Given the description of an element on the screen output the (x, y) to click on. 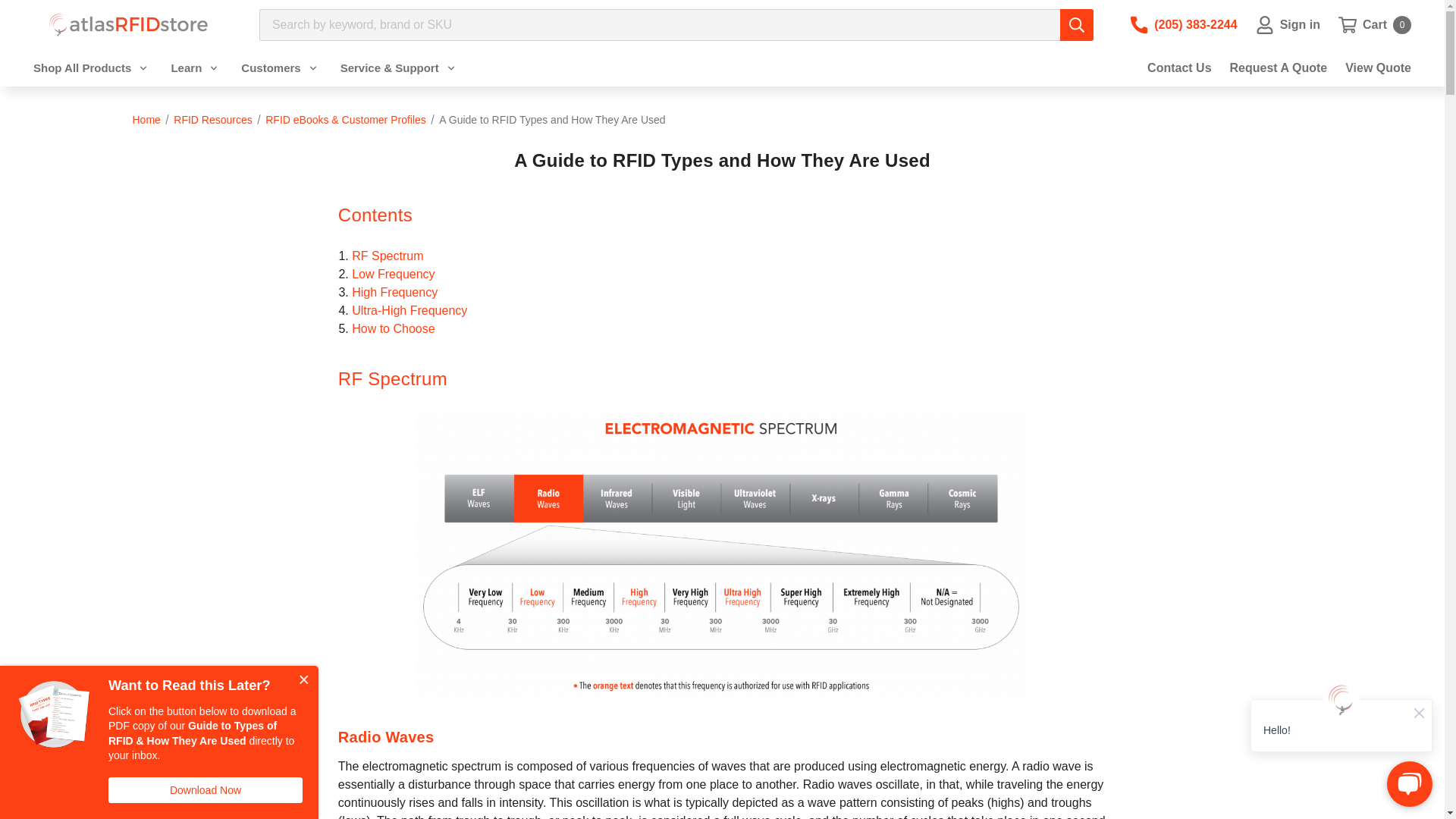
Search (1076, 24)
Sign in (1287, 24)
atlasRFIDstore (1374, 24)
Shop All Products (127, 24)
